Given the description of an element on the screen output the (x, y) to click on. 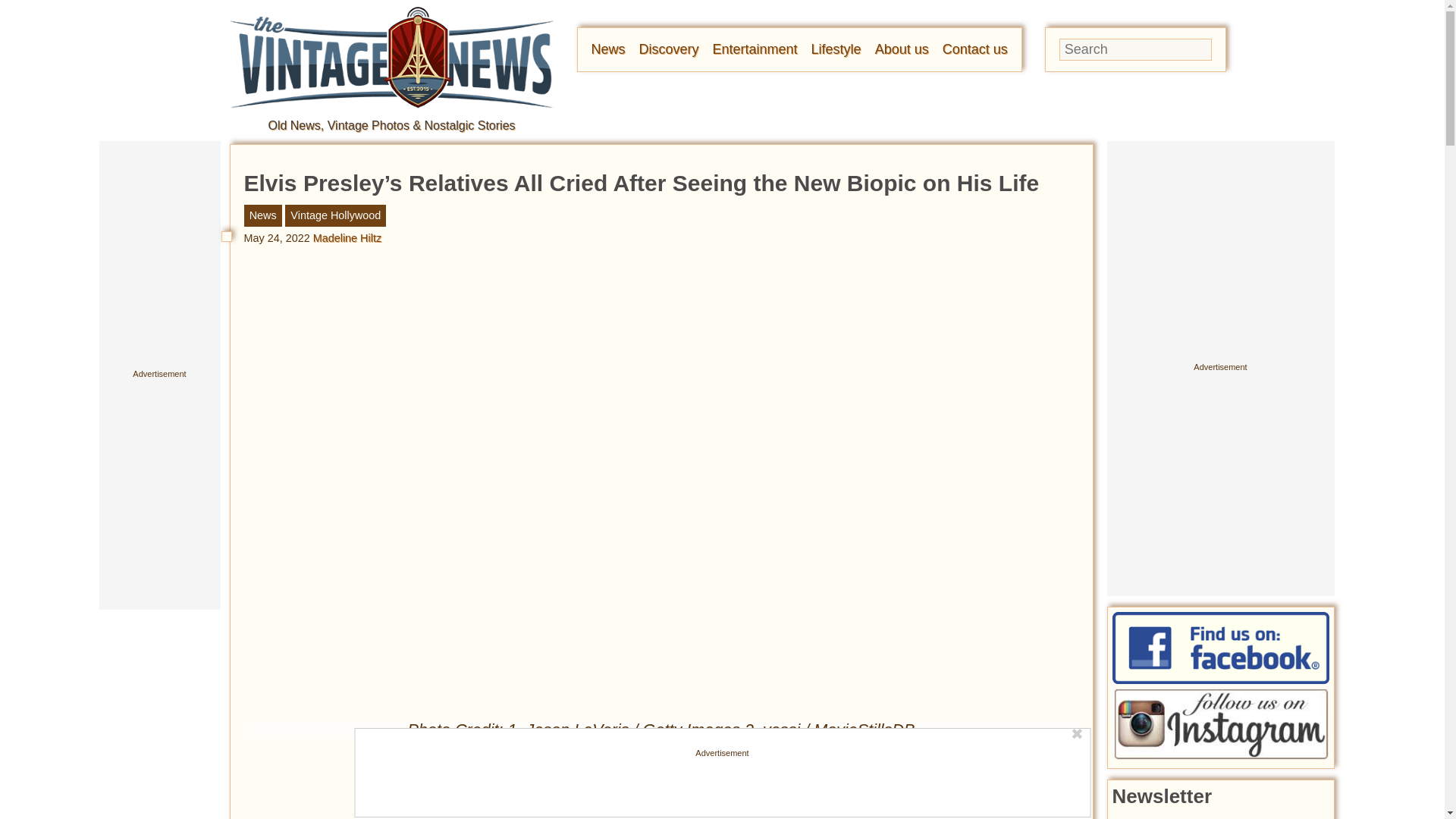
News (608, 48)
About us (901, 48)
Discovery (668, 48)
Contact us (974, 48)
Entertainment (755, 48)
Lifestyle (835, 48)
